Given the description of an element on the screen output the (x, y) to click on. 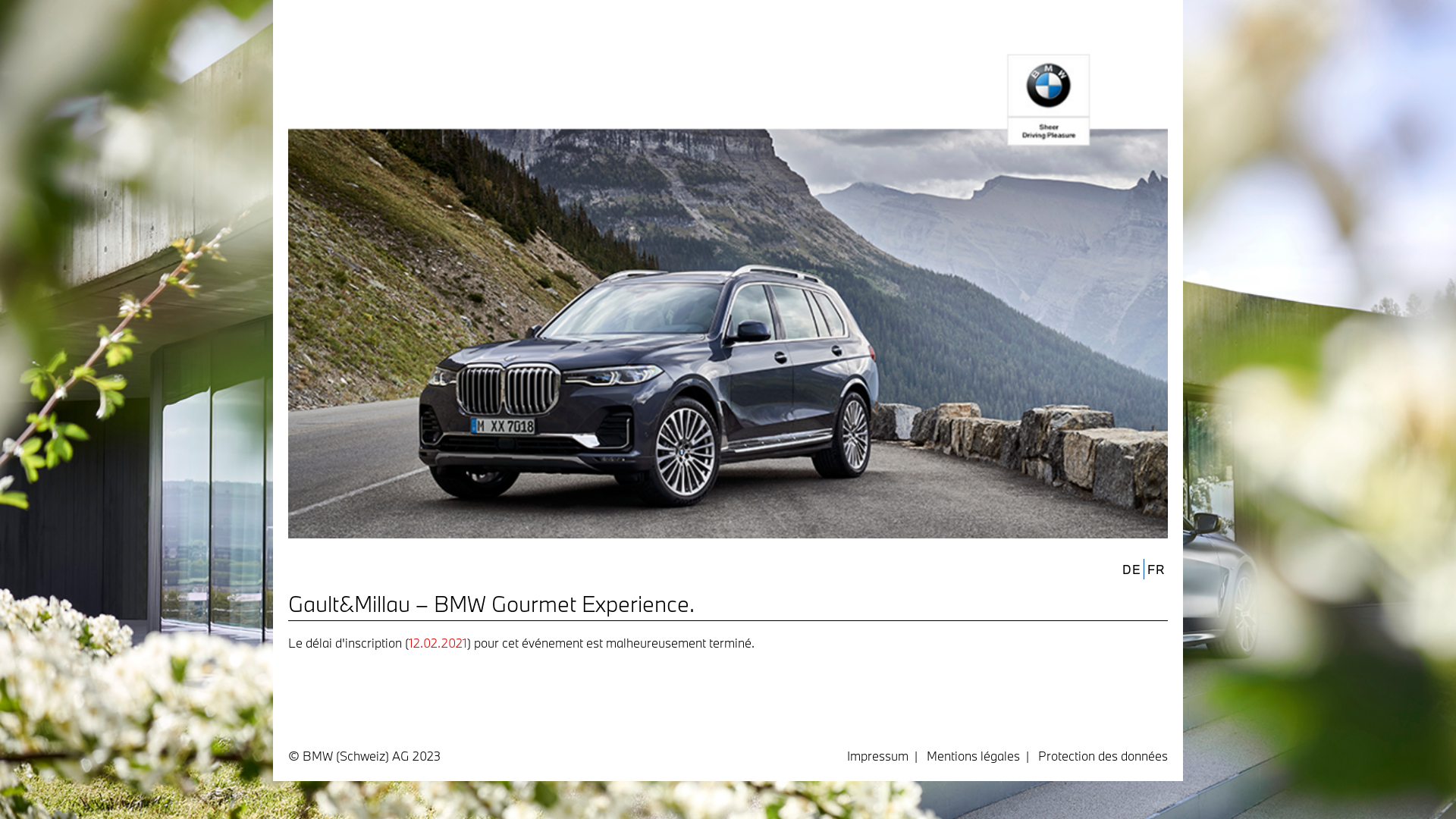
Impressum Element type: text (877, 755)
DE Element type: text (1131, 569)
